Given the description of an element on the screen output the (x, y) to click on. 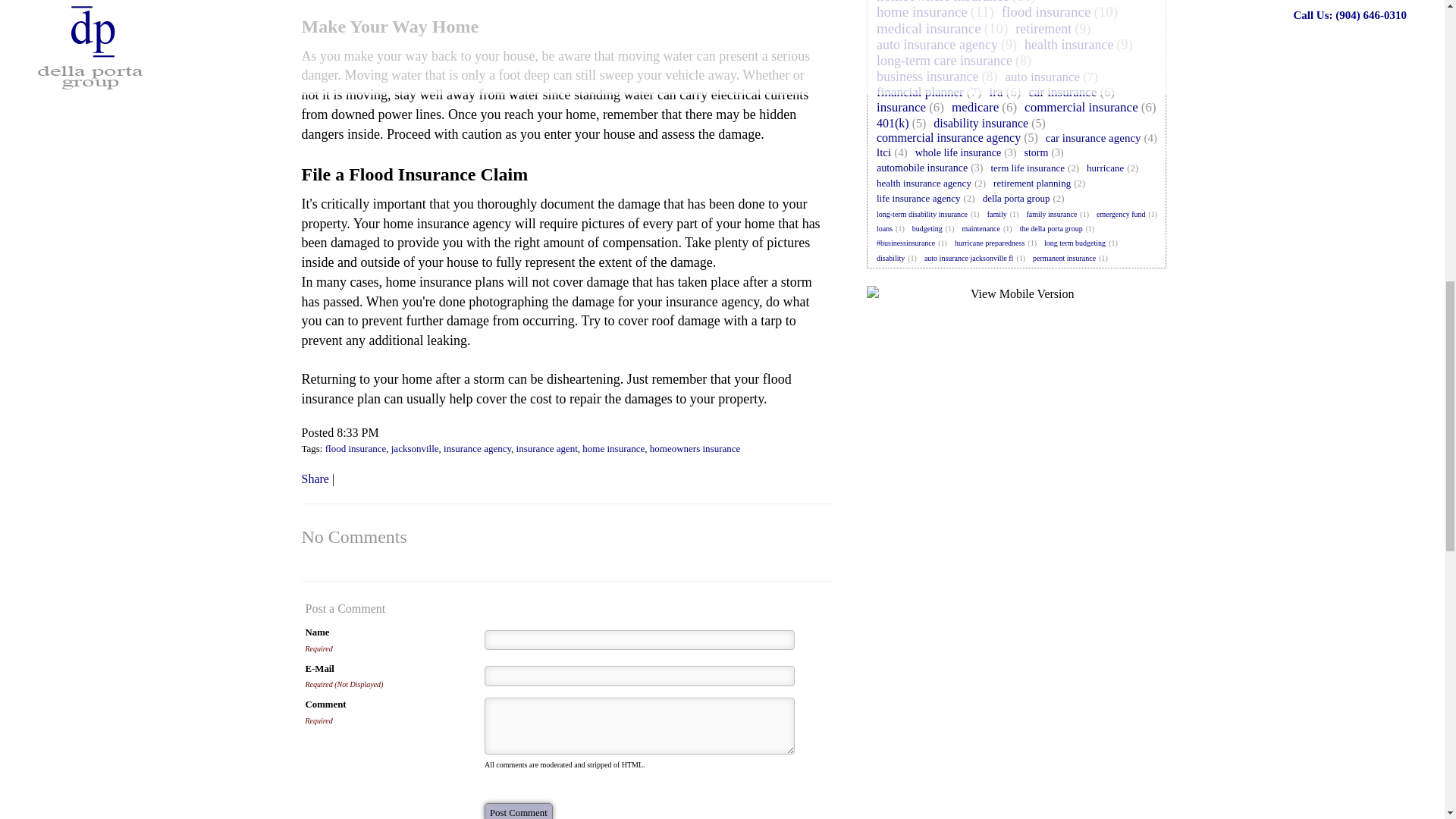
business insurance (927, 76)
medical insurance (928, 27)
financial planner (919, 91)
homeowners insurance (942, 2)
Post Comment (518, 811)
long-term care insurance (943, 60)
auto insurance (1042, 76)
auto insurance agency (937, 45)
health insurance (1069, 45)
retirement (1042, 28)
home insurance (922, 11)
flood insurance (1046, 11)
ira (996, 91)
